Given the description of an element on the screen output the (x, y) to click on. 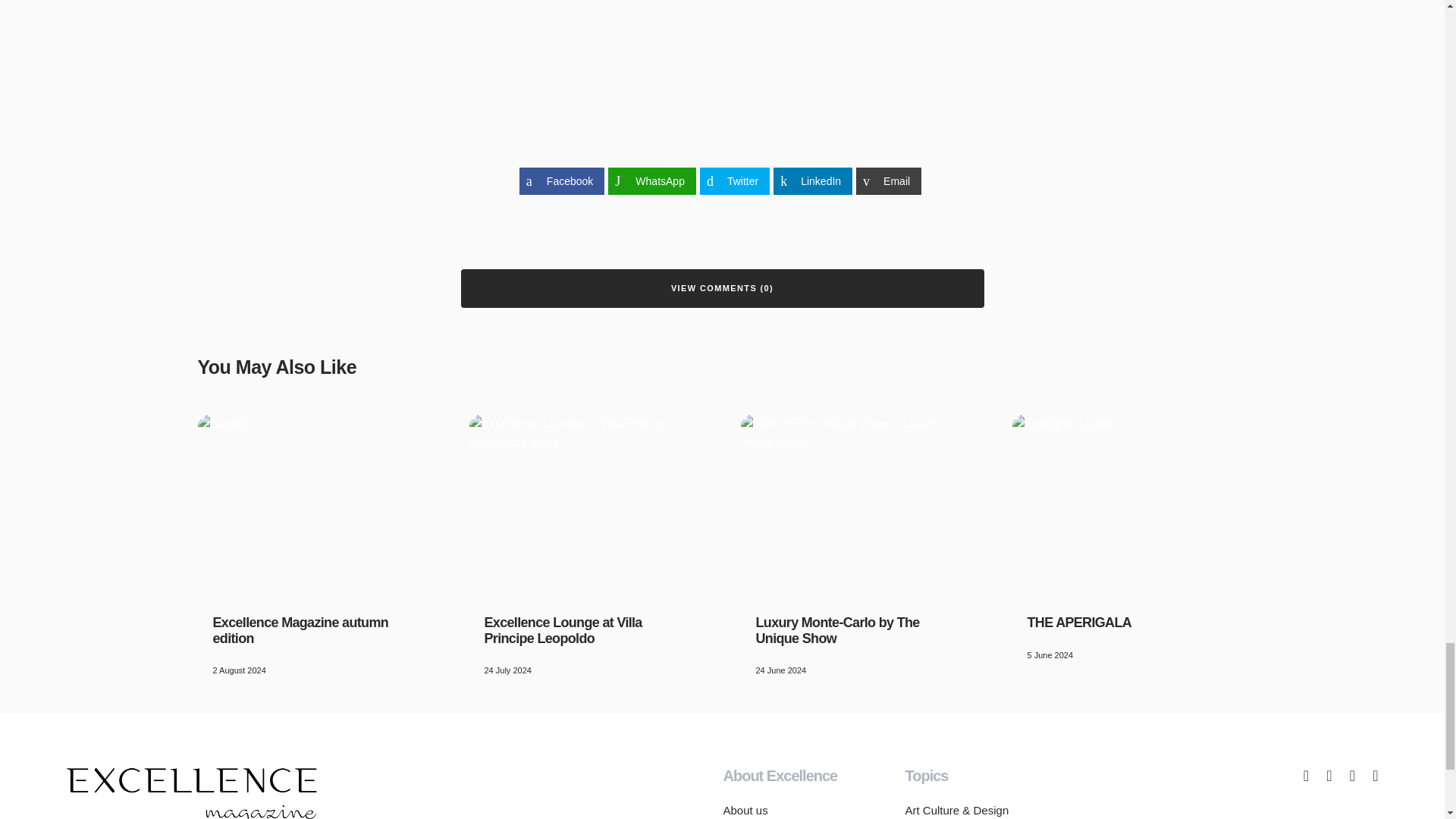
Share on LinkedIn (812, 180)
Share on WhatsApp (651, 180)
Share on Facebook (561, 180)
Share on Email (888, 180)
Share on Twitter (735, 180)
